Given the description of an element on the screen output the (x, y) to click on. 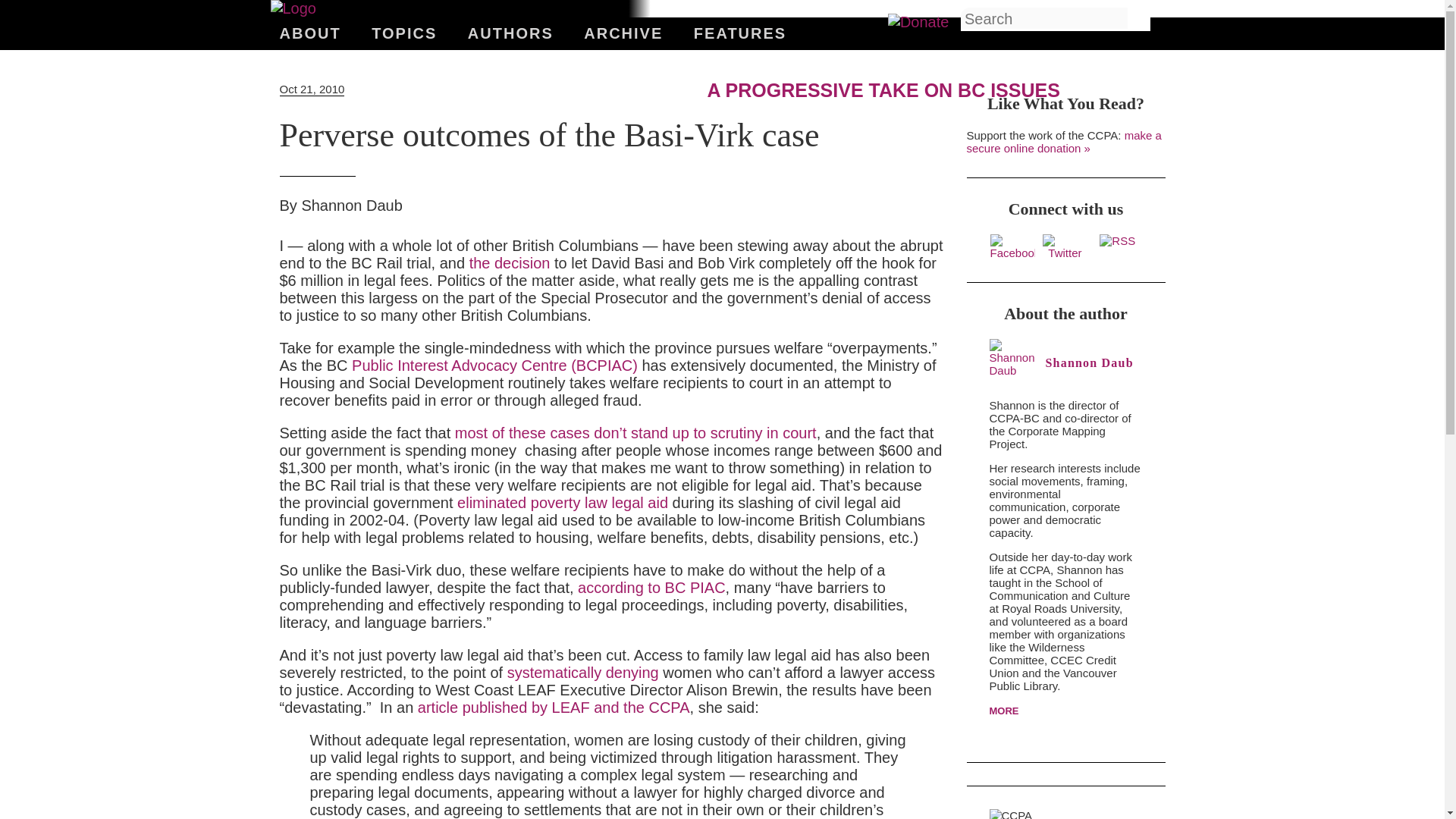
Shannon Daub (351, 209)
Tyee BCPIAC welfare overpayments (635, 433)
according to BC PIAC (651, 587)
FEATURES (740, 33)
eliminated poverty law legal aid (562, 502)
article published by LEAF and the CCPA (553, 707)
Povnet legal aid cuts timeline (562, 502)
the decision (509, 262)
ARCHIVE (622, 33)
AUTHORS (510, 33)
Perverse outcomes of the Basi-Virk case (548, 135)
Legal aid denied oped (553, 707)
Tyee Basi-Virk story (509, 262)
BC PIAC website (494, 365)
Legal aid denied news release (582, 672)
